Given the description of an element on the screen output the (x, y) to click on. 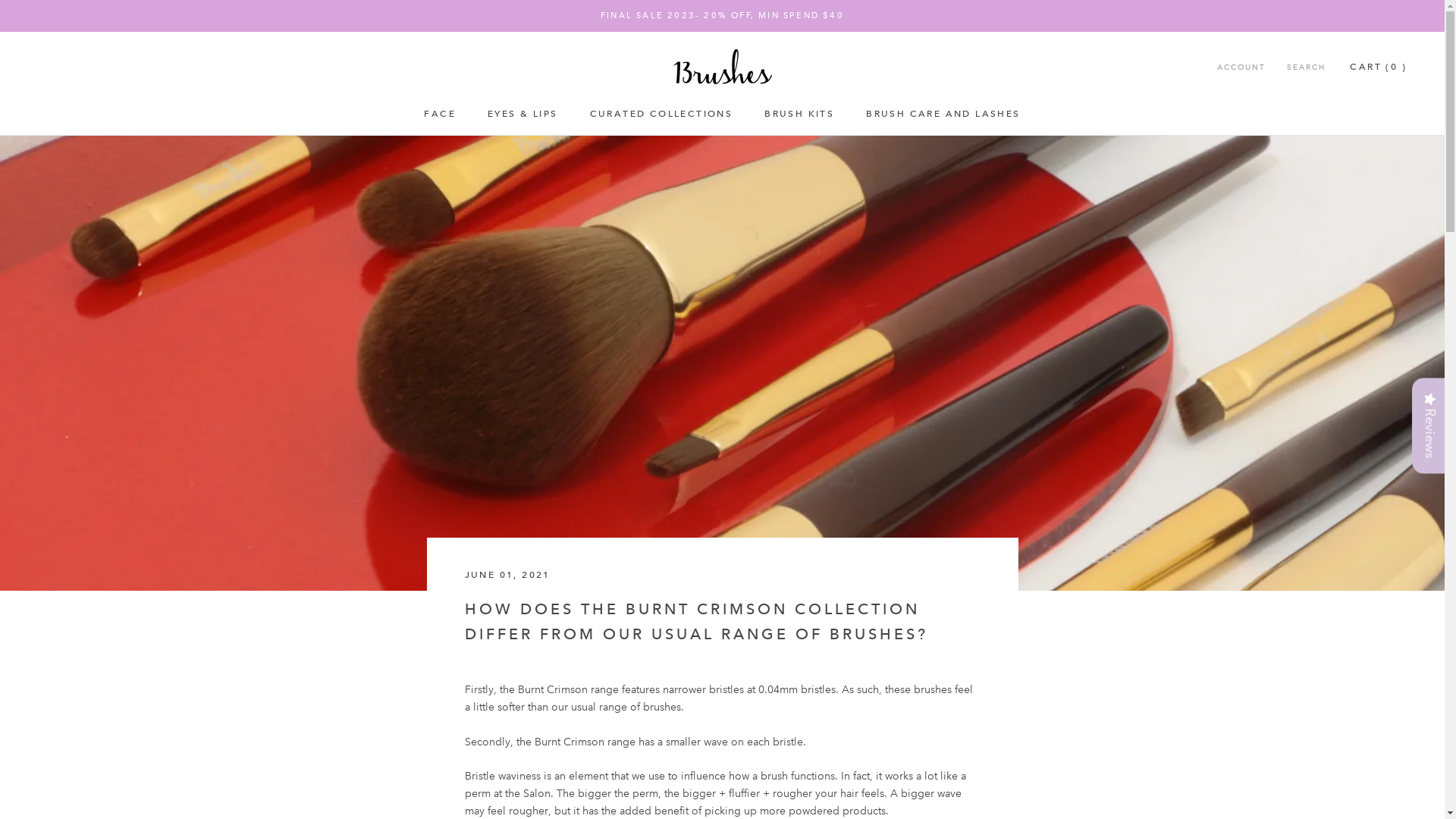
CART (0 ) Element type: text (1377, 66)
ACCOUNT Element type: text (1241, 67)
EYES & LIPS
EYES & LIPS Element type: text (522, 113)
CURATED COLLECTIONS
CURATED COLLECTIONS Element type: text (661, 113)
SEARCH Element type: text (1305, 67)
BRUSH KITS
BRUSH KITS Element type: text (799, 113)
BRUSH CARE AND LASHES
BRUSH CARE AND LASHES Element type: text (942, 113)
FACE
FACE Element type: text (439, 113)
